Given the description of an element on the screen output the (x, y) to click on. 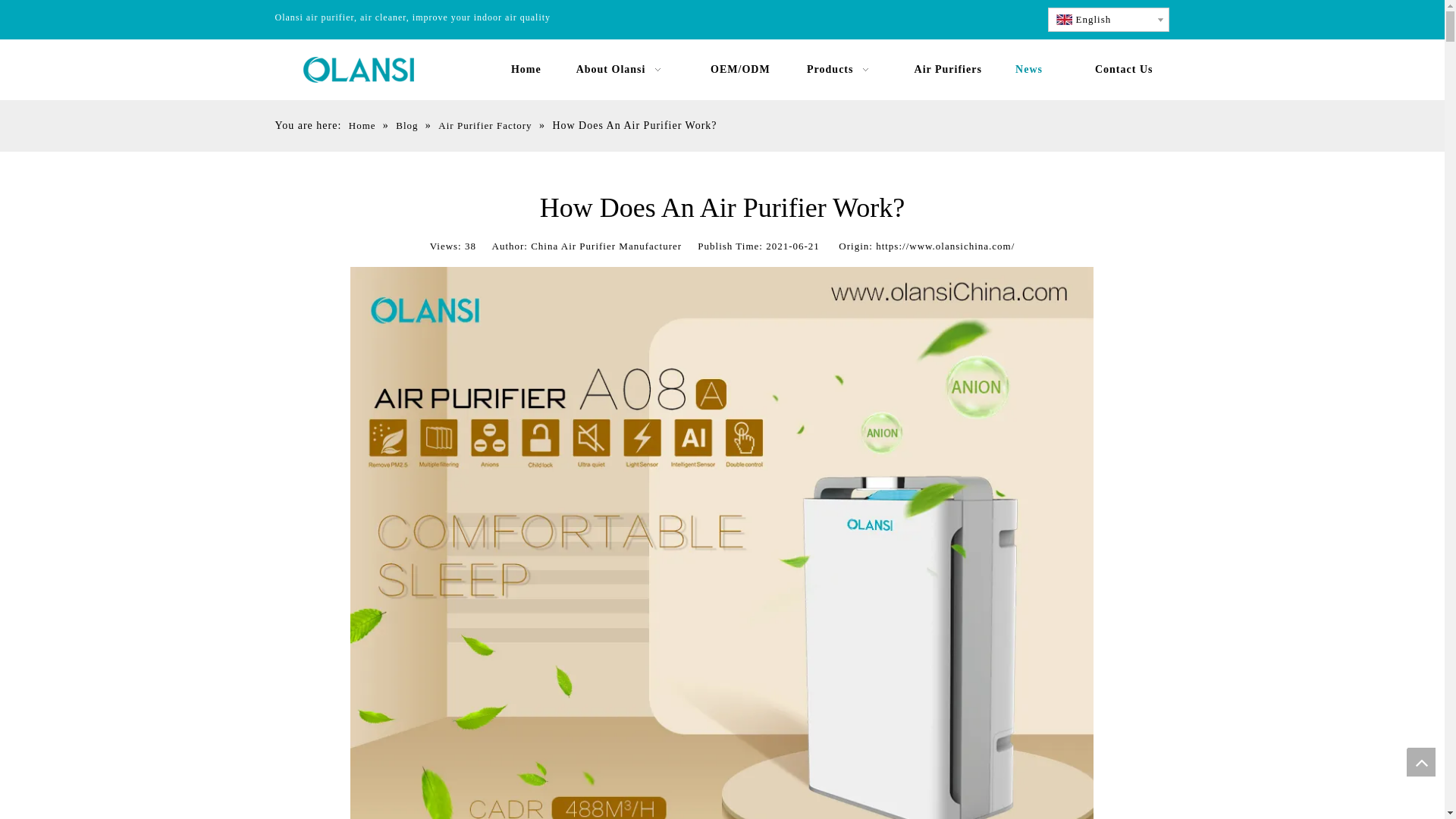
Home (526, 69)
About Olansi   (621, 69)
Products   (841, 69)
olansi (364, 67)
